Given the description of an element on the screen output the (x, y) to click on. 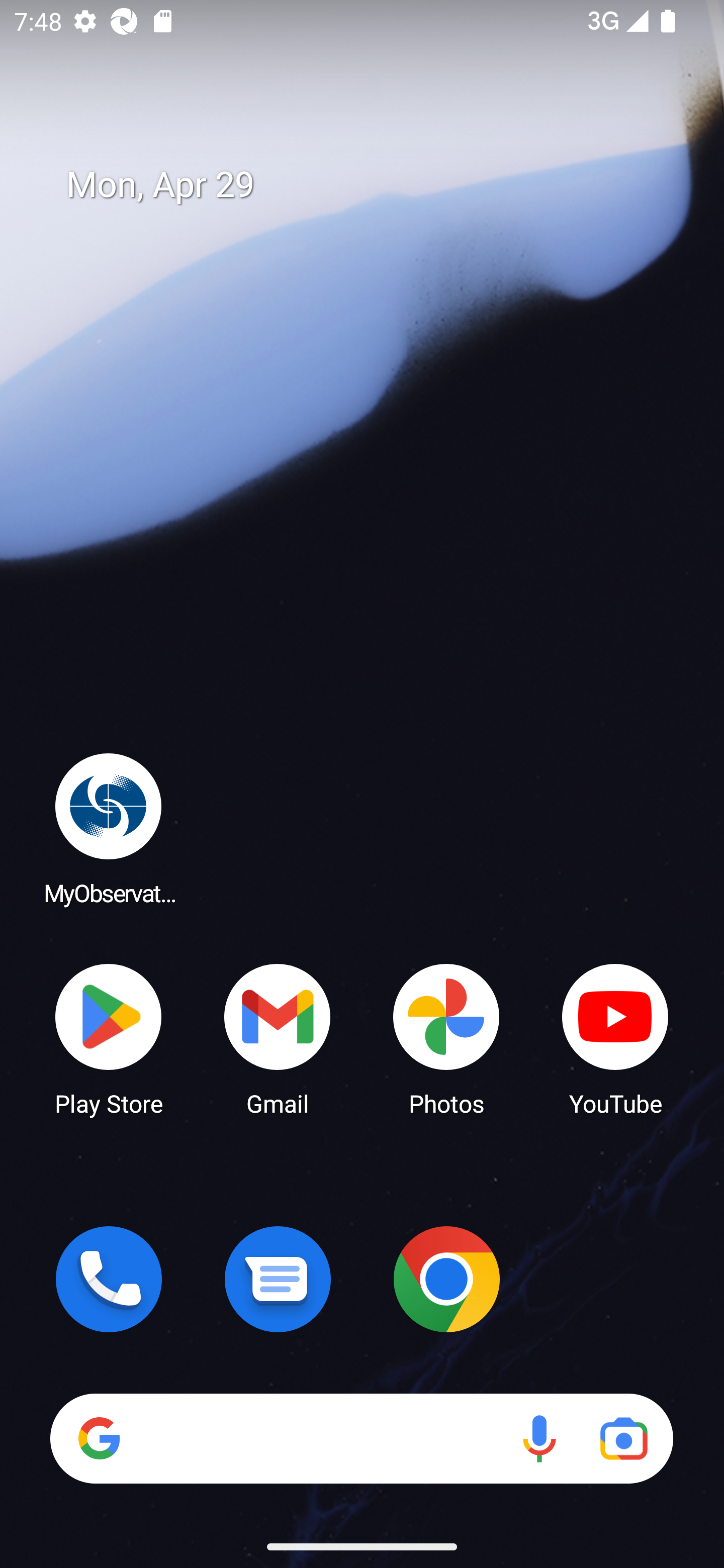
Mon, Apr 29 (375, 184)
MyObservatory (108, 828)
Play Store (108, 1038)
Gmail (277, 1038)
Photos (445, 1038)
YouTube (615, 1038)
Phone (108, 1279)
Messages (277, 1279)
Chrome (446, 1279)
Voice search (539, 1438)
Google Lens (623, 1438)
